Given the description of an element on the screen output the (x, y) to click on. 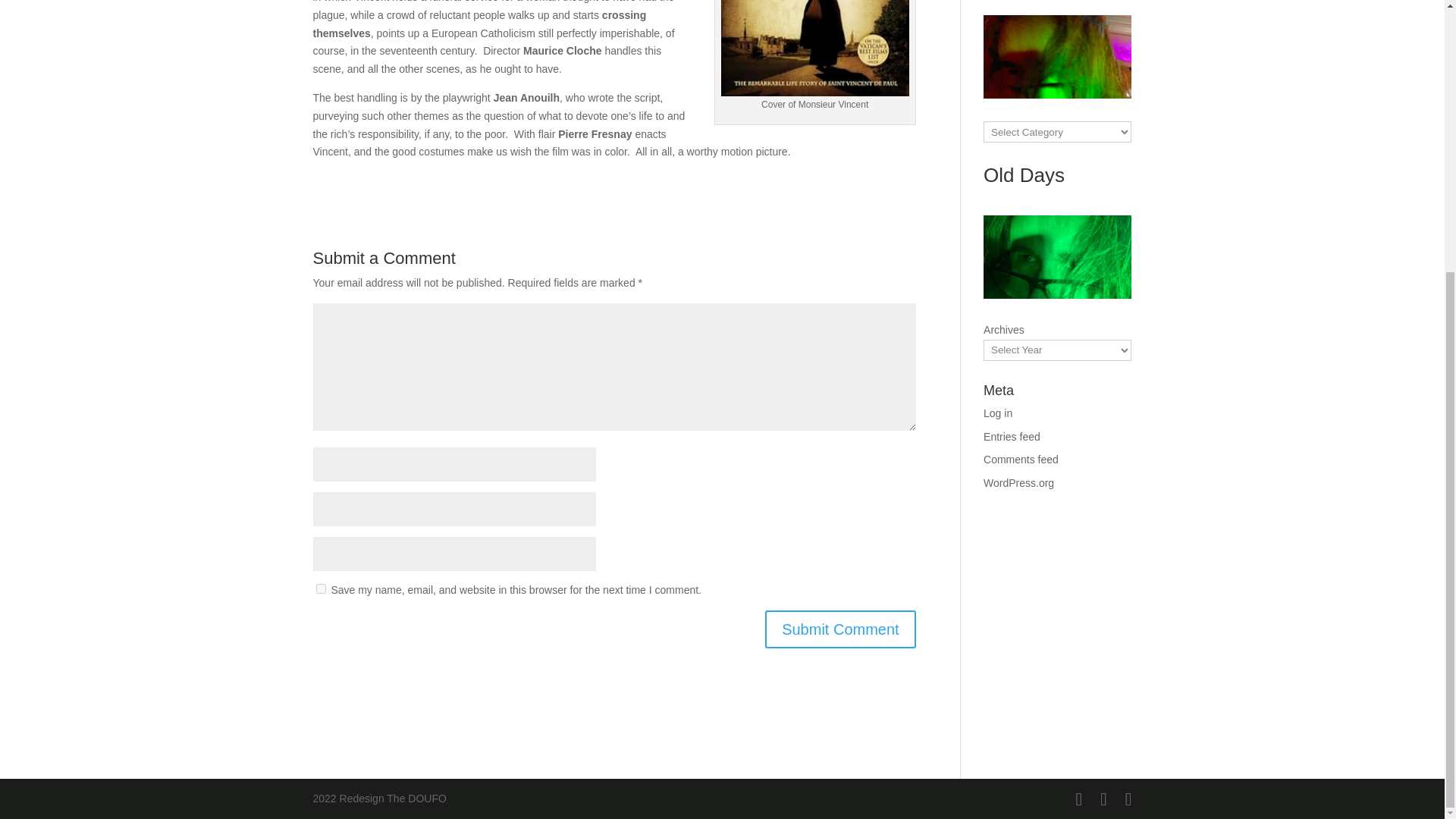
yes (319, 588)
WordPress.org (1019, 482)
Submit Comment (840, 629)
Entries feed (1012, 436)
Comments feed (1021, 459)
Log in (997, 413)
Submit Comment (840, 629)
Cover of "Monsieur Vincent" (814, 48)
